Given the description of an element on the screen output the (x, y) to click on. 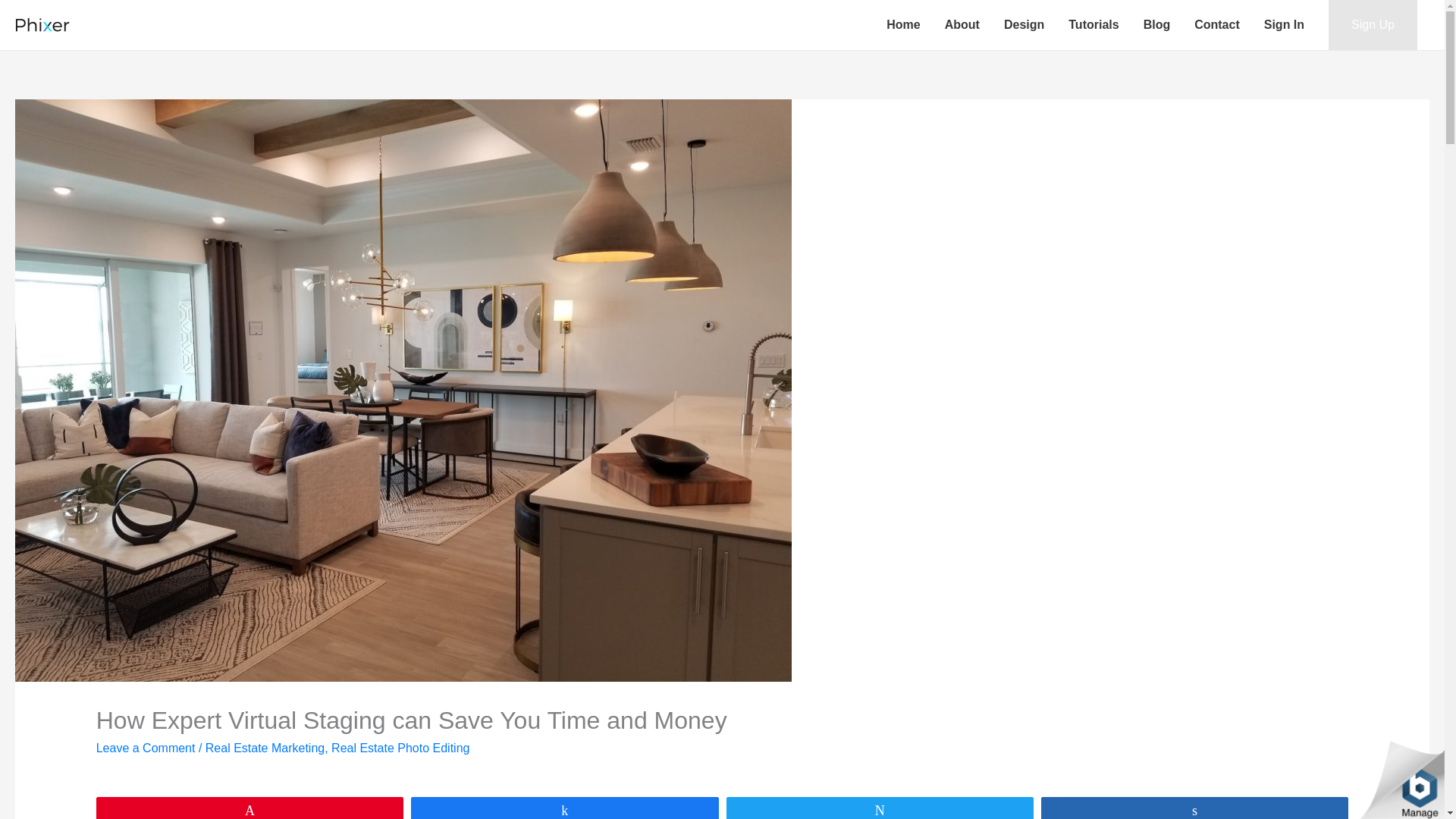
Sign In (1284, 24)
Tutorials (1094, 24)
Contact (1217, 24)
Home (903, 24)
Design (1024, 24)
Sign Up (1371, 24)
Blog (1156, 24)
Leave a Comment (145, 748)
About (962, 24)
Real Estate Marketing (264, 748)
Real Estate Photo Editing (399, 748)
